Given the description of an element on the screen output the (x, y) to click on. 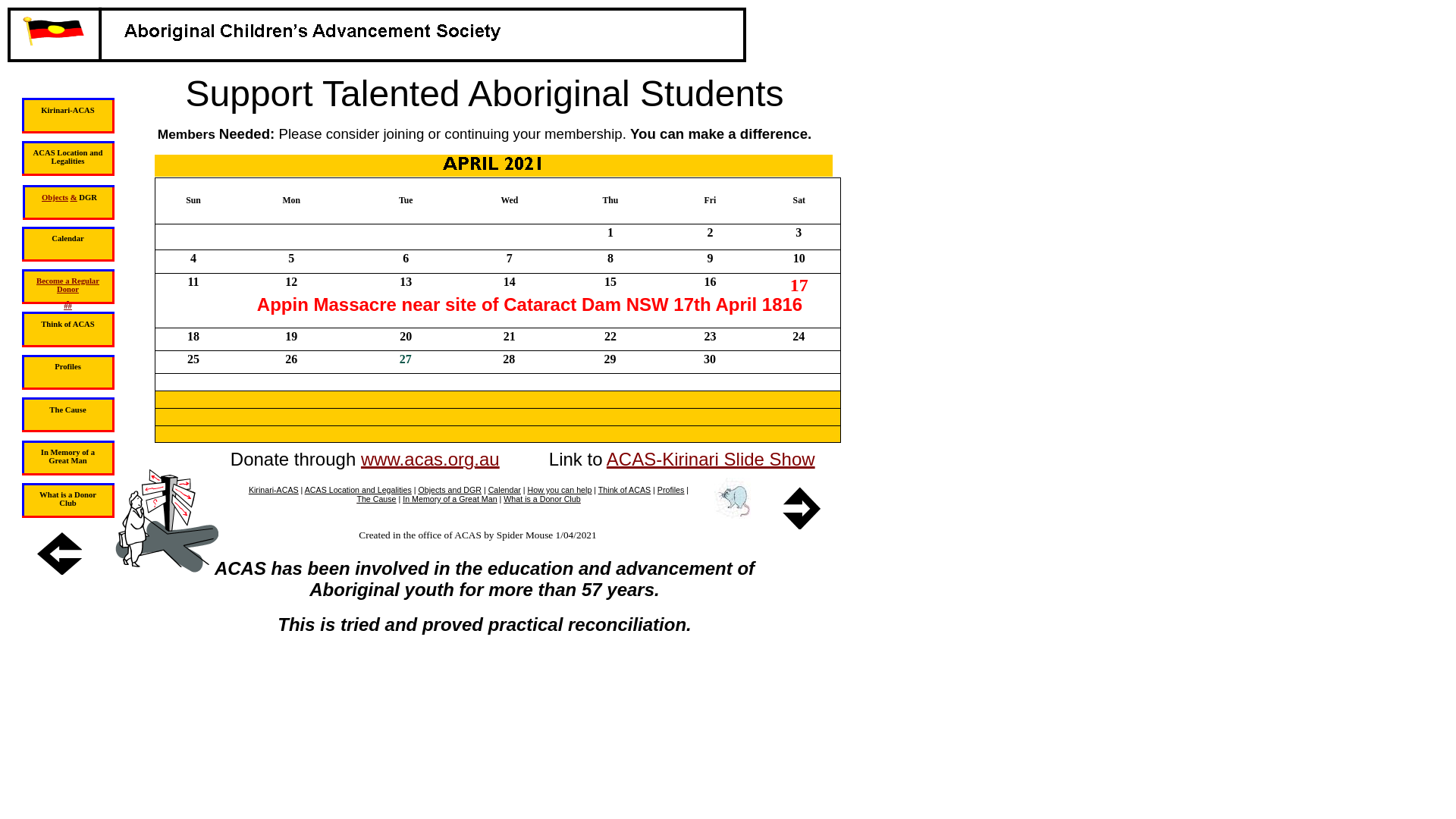
& Element type: text (73, 196)
Object Element type: text (53, 196)
The Cause Element type: text (375, 498)
How you can help Element type: text (559, 489)
Objects and DGR Element type: text (449, 489)
In Memory of a Great Man Element type: text (449, 498)
What is a Donor Club Element type: text (541, 498)
ACAS-Kirinari Slide Show Element type: text (710, 461)
Become a Regular Donor Element type: text (67, 284)
Think of ACAS Element type: text (624, 489)
Calendar Element type: text (504, 489)
Kirinari-ACAS Element type: text (273, 489)
s Element type: text (66, 196)
Profiles Element type: text (670, 489)
ACAS Location and Legalities Element type: text (357, 489)
www.acas.org.au Element type: text (429, 461)
# Element type: text (70, 304)
# Element type: text (65, 304)
